Given the description of an element on the screen output the (x, y) to click on. 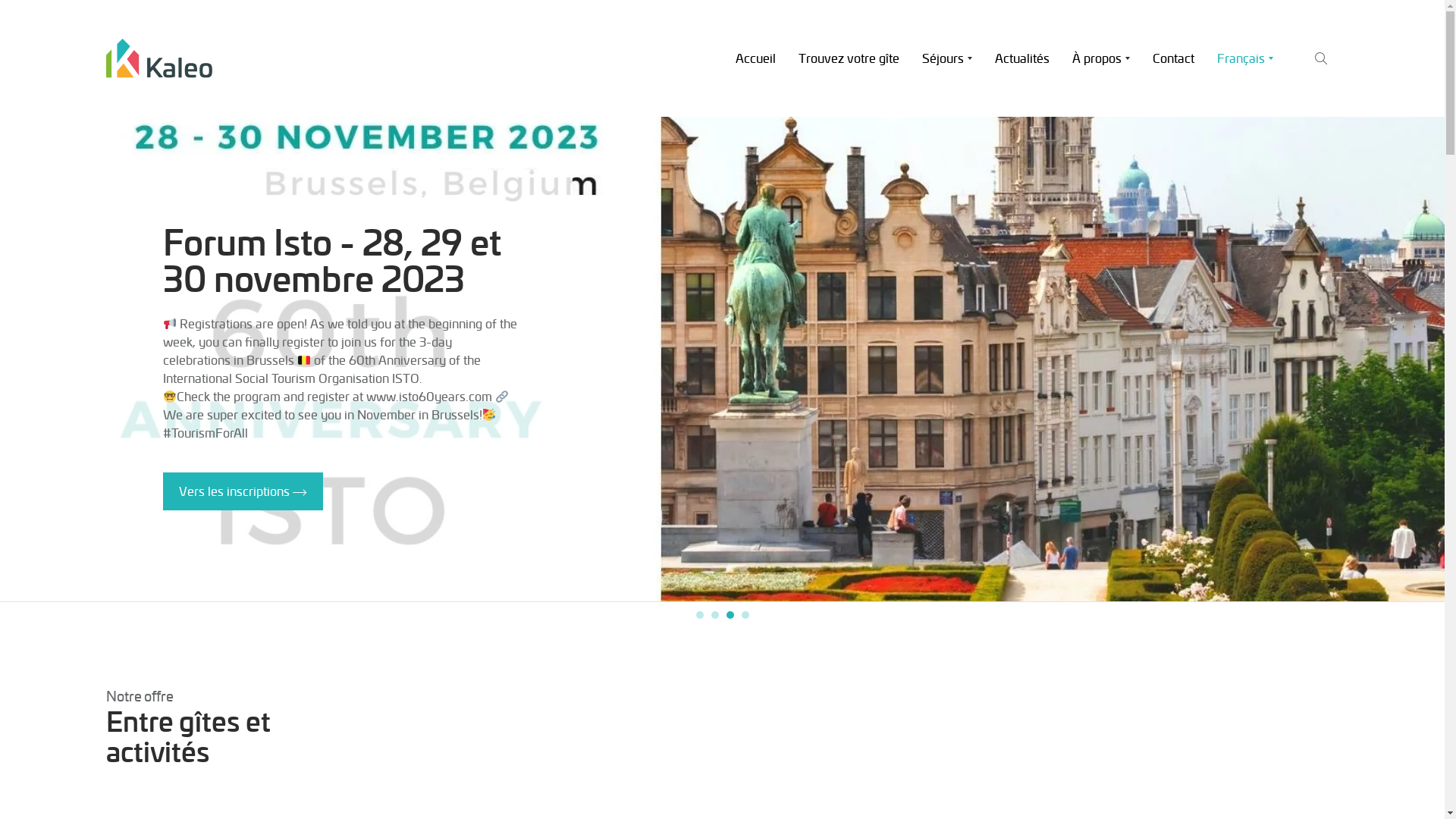
Rechercher Element type: text (1320, 152)
Contact Element type: text (1173, 57)
Accueil Element type: text (755, 57)
